Given the description of an element on the screen output the (x, y) to click on. 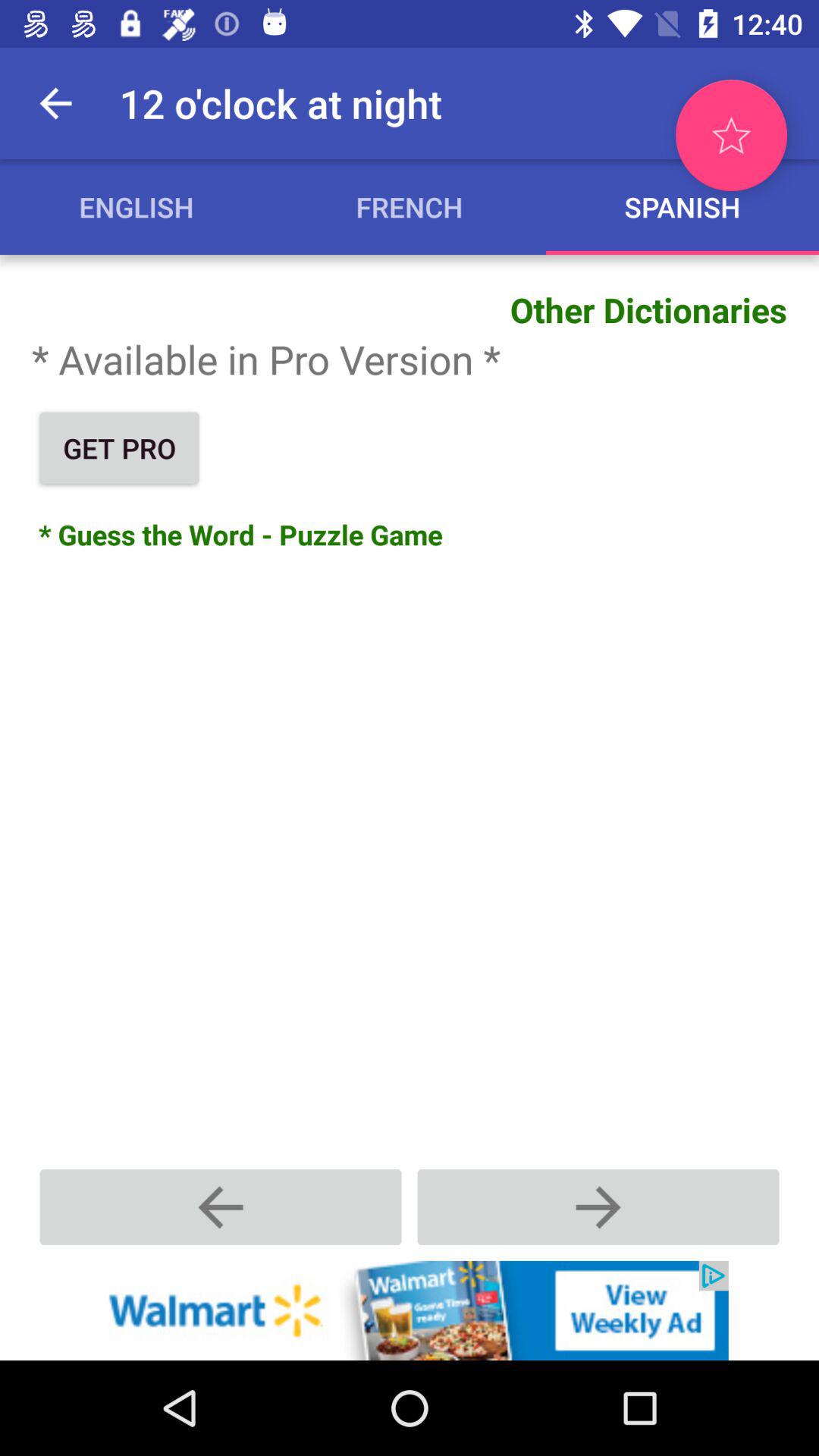
favourite (731, 135)
